Given the description of an element on the screen output the (x, y) to click on. 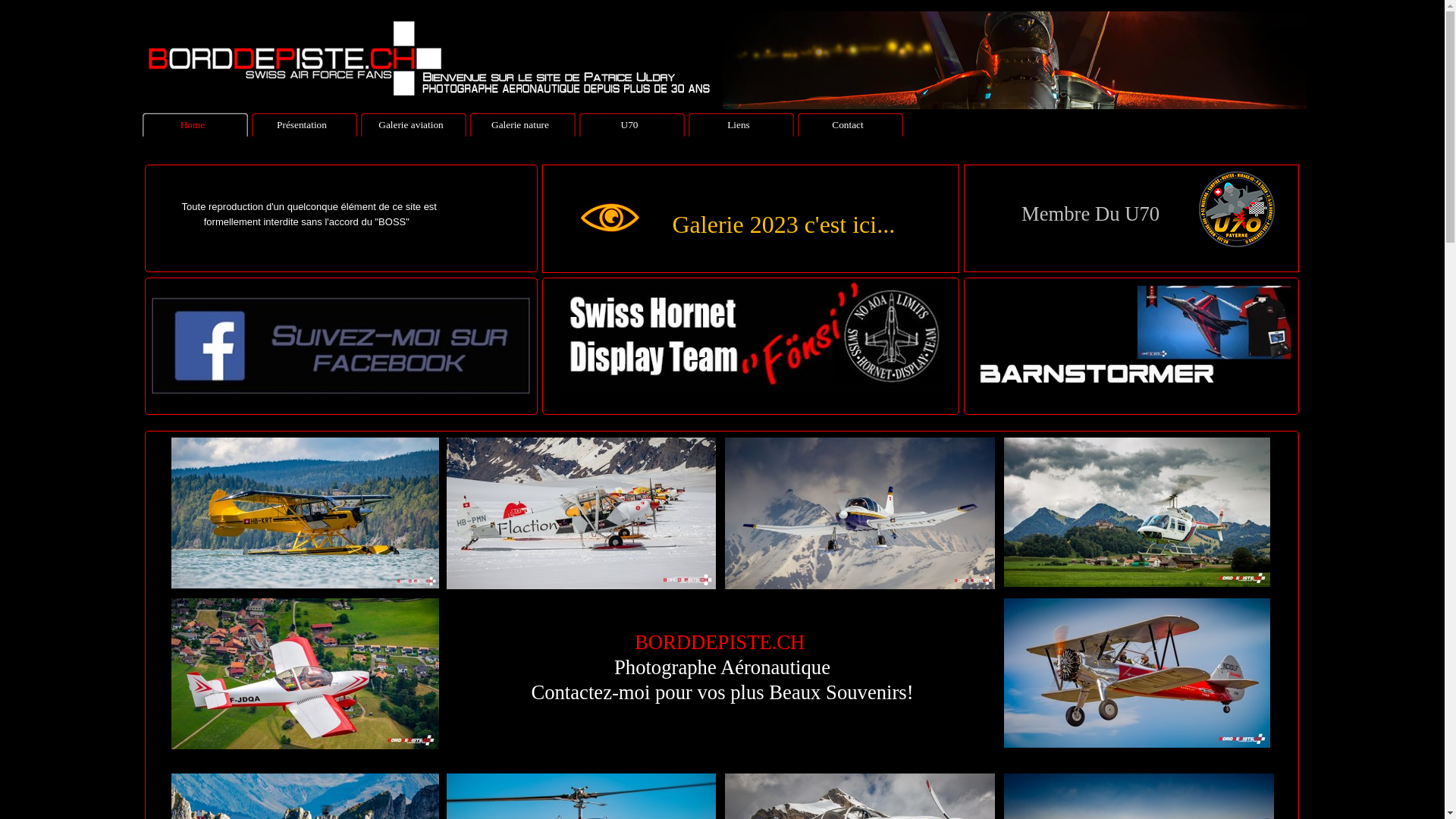
Home Element type: text (195, 124)
Contact Element type: text (850, 124)
U70 Element type: text (632, 124)
